Given the description of an element on the screen output the (x, y) to click on. 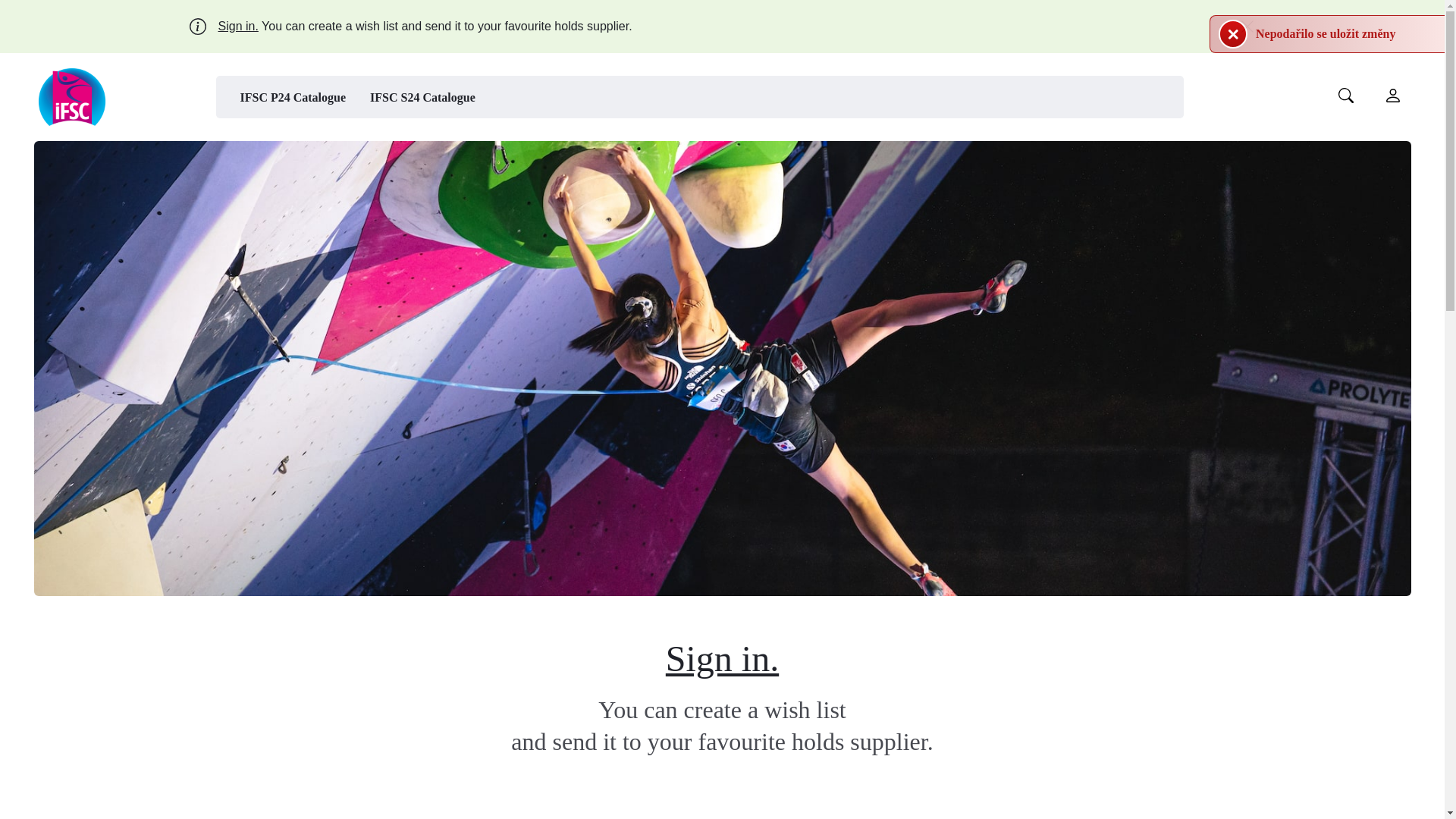
IFSC P24 Catalogue (292, 96)
Search (963, 84)
IFSC S24 Catalogue (422, 96)
